Given the description of an element on the screen output the (x, y) to click on. 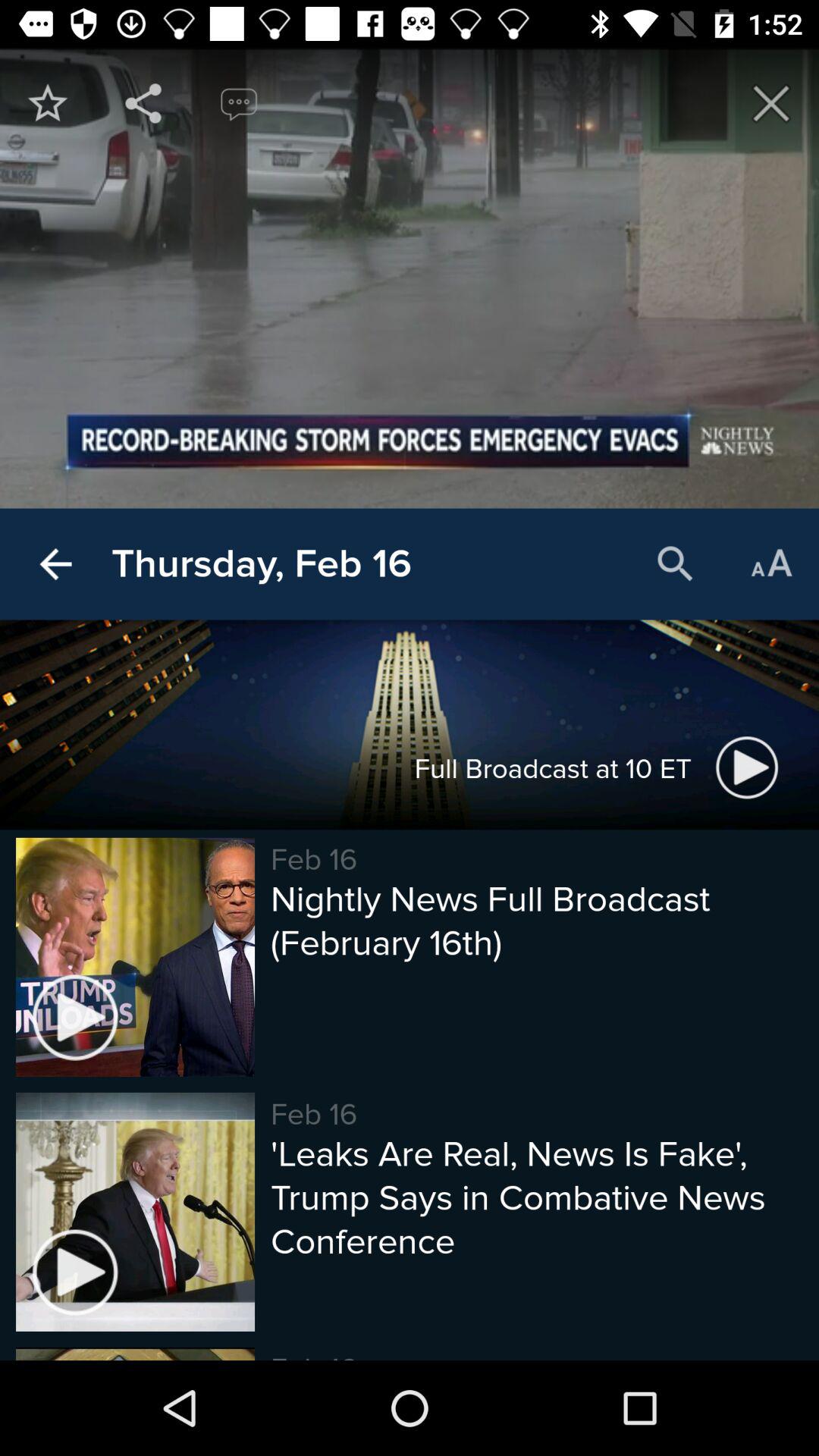
launch the item at the top right corner (771, 103)
